Given the description of an element on the screen output the (x, y) to click on. 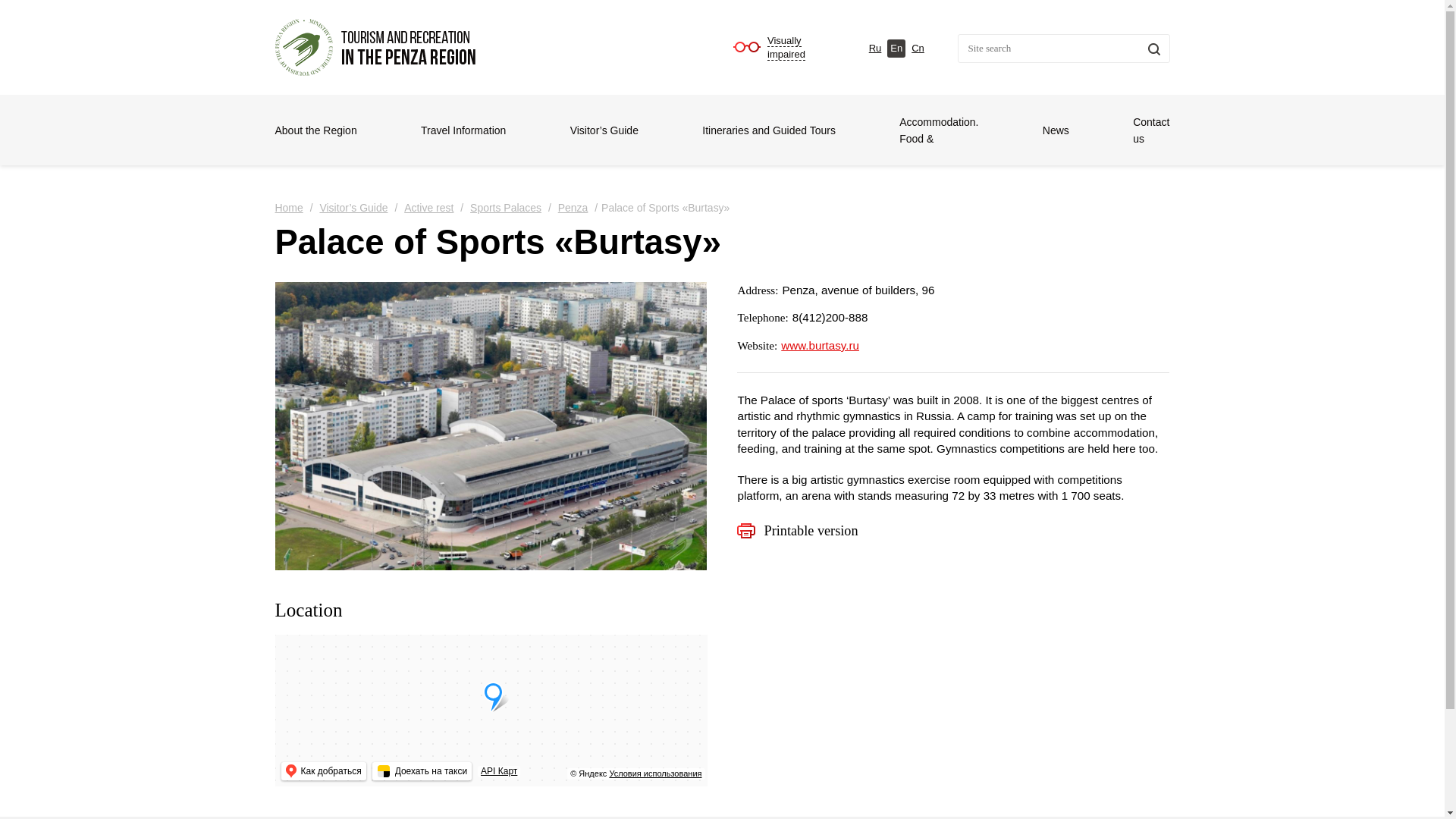
En (895, 48)
Ru (874, 48)
Sports Palaces (1150, 130)
Itineraries and Guided Tours (503, 208)
Travel Information (768, 130)
Home (462, 130)
Penza (288, 208)
About the Region (571, 208)
Cn (315, 130)
Active rest (917, 48)
News (426, 208)
